Given the description of an element on the screen output the (x, y) to click on. 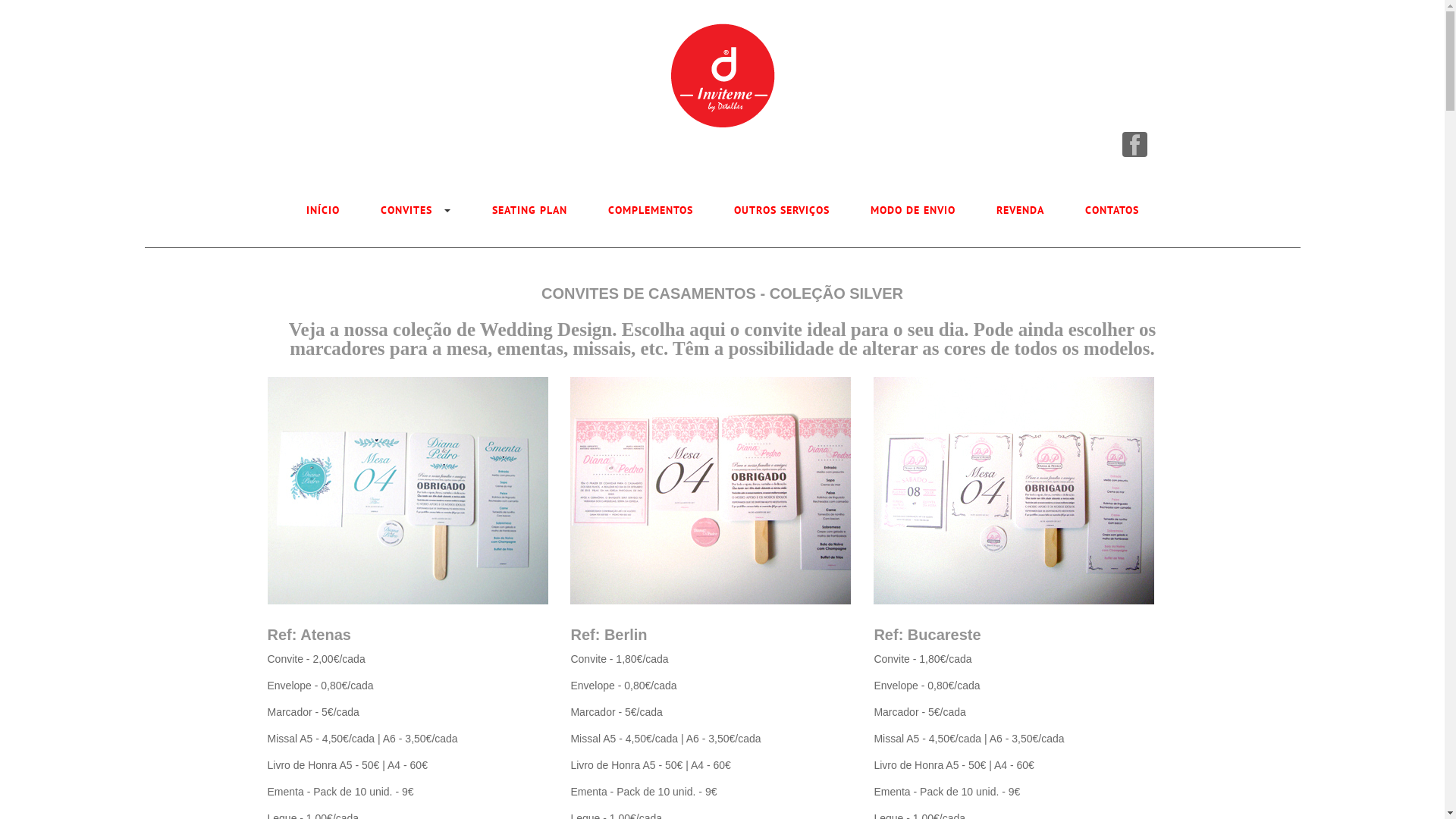
REVENDA Element type: text (1019, 209)
SEATING PLAN Element type: text (529, 209)
CONVITES Element type: text (414, 209)
CONTATOS Element type: text (1111, 209)
COMPLEMENTOS Element type: text (649, 209)
MODO DE ENVIO Element type: text (912, 209)
